Given the description of an element on the screen output the (x, y) to click on. 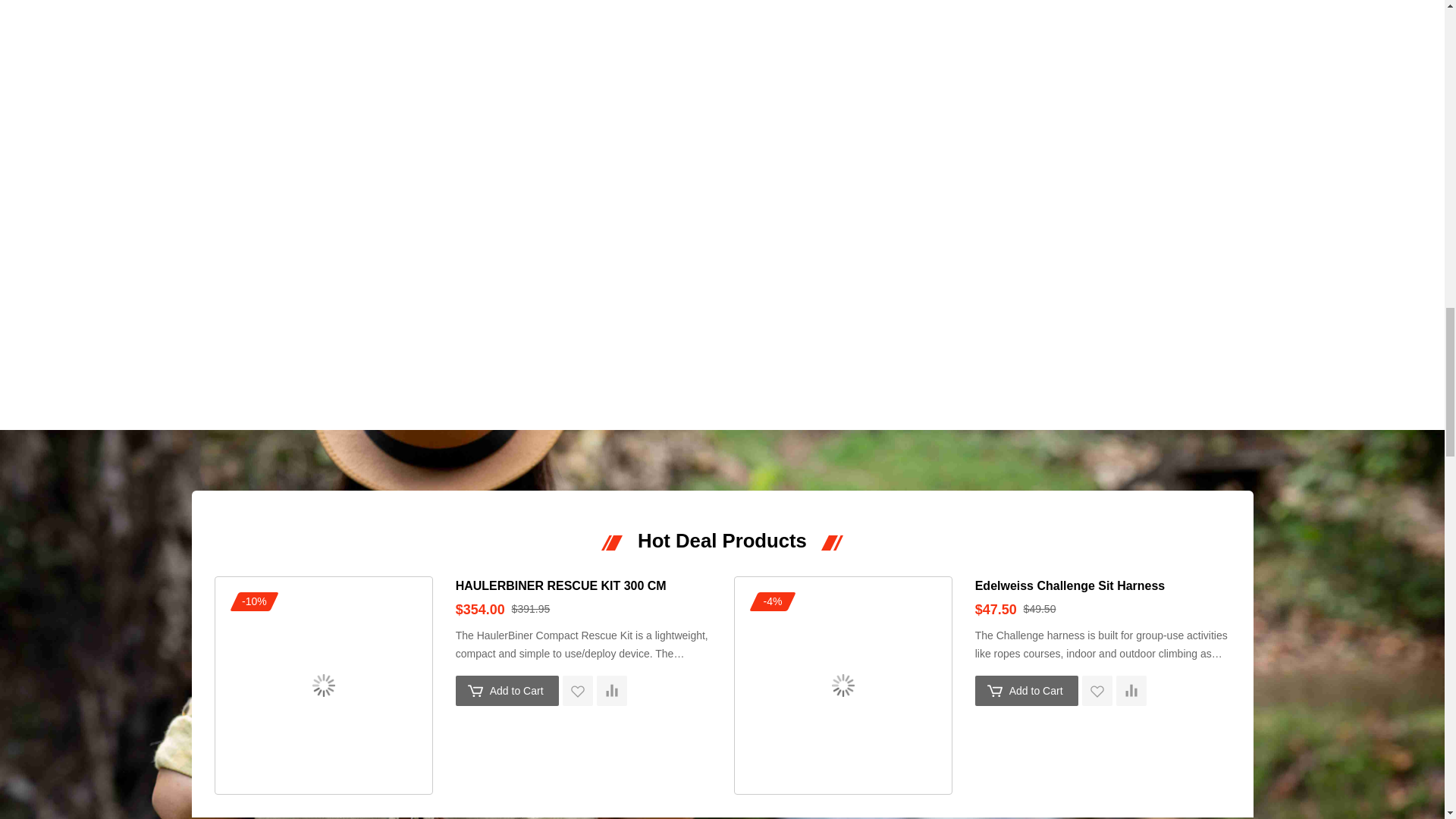
Add to Cart (507, 690)
Add to Cart (1026, 690)
Add to Compare (1131, 690)
Add to Wish List (577, 690)
Add to Wish List (1096, 690)
Add to Compare (611, 690)
